Given the description of an element on the screen output the (x, y) to click on. 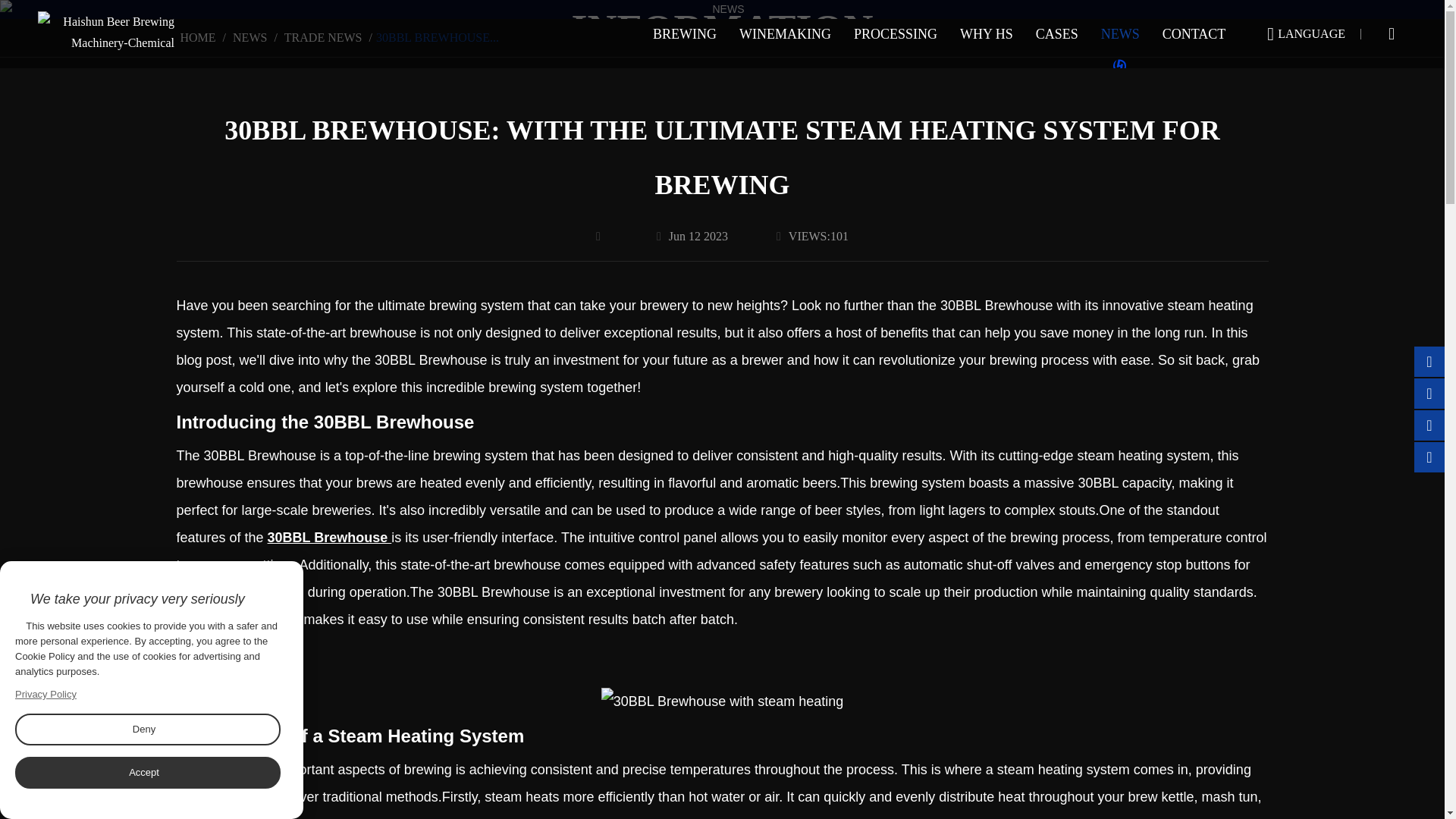
Haishun Beer Brewing Machinery-Chemical Equipment (105, 32)
CONTACT (1194, 33)
NEWS (1120, 33)
LANGUAGE (1311, 33)
CASES (1057, 33)
PROCESSING (896, 33)
Haishun Beer Brewing Machinery-Chemical Equipment (105, 33)
BREWING (685, 33)
WHY HS (987, 33)
WINEMAKING (785, 33)
